Given the description of an element on the screen output the (x, y) to click on. 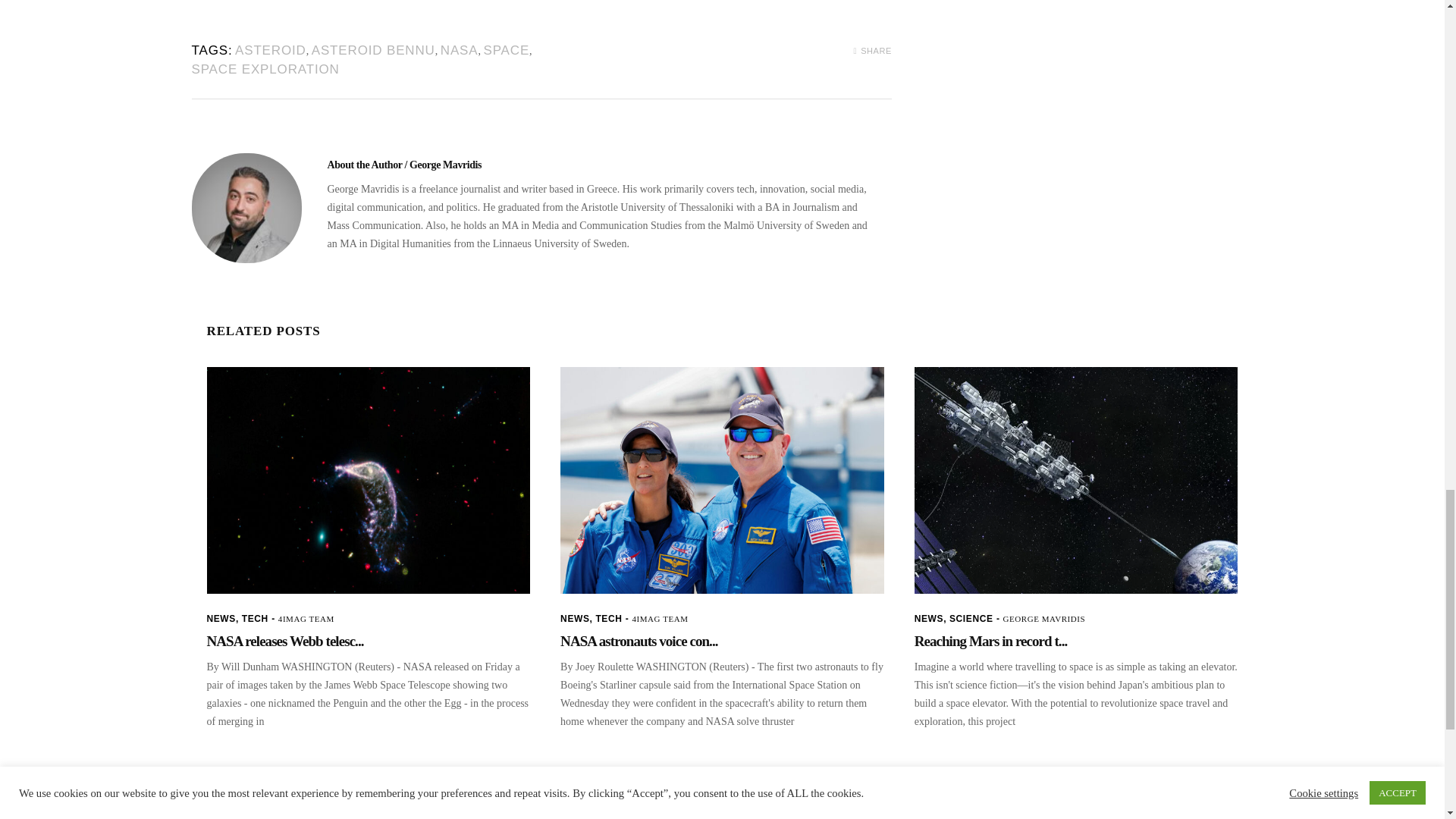
NASA got double the amount of asteroid Bennu sample (404, 164)
NASA got double the amount of asteroid Bennu sample (245, 207)
